Given the description of an element on the screen output the (x, y) to click on. 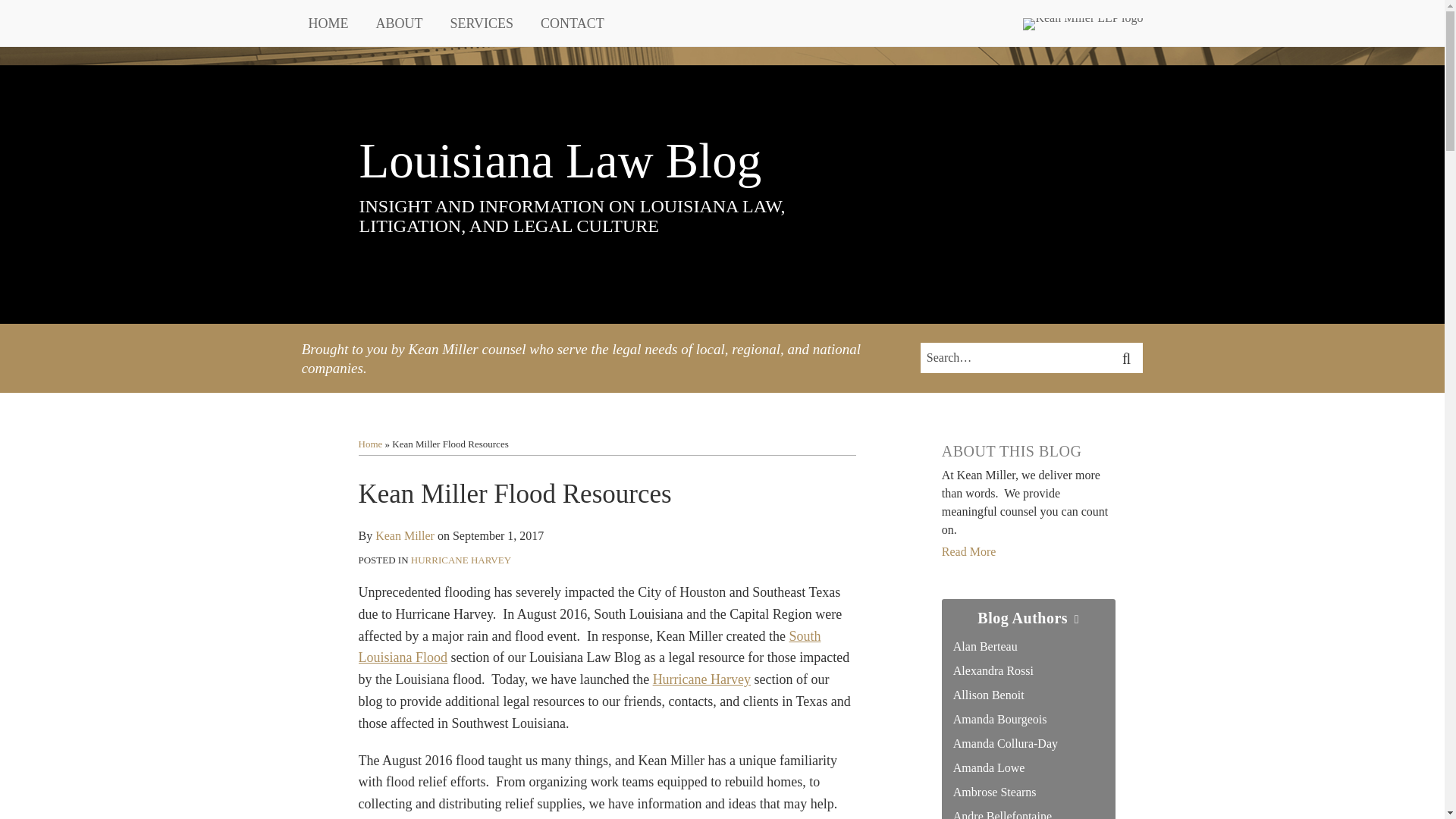
Allison Benoit (989, 694)
South Louisiana Flood (589, 646)
Amanda Collura-Day (1005, 743)
HURRICANE HARVEY (460, 559)
Amanda Lowe (989, 767)
Alan Berteau (985, 645)
Amanda Bourgeois (999, 718)
Andre Bellefontaine (1002, 814)
CONTACT (572, 23)
Louisiana Law Blog (560, 160)
